Given the description of an element on the screen output the (x, y) to click on. 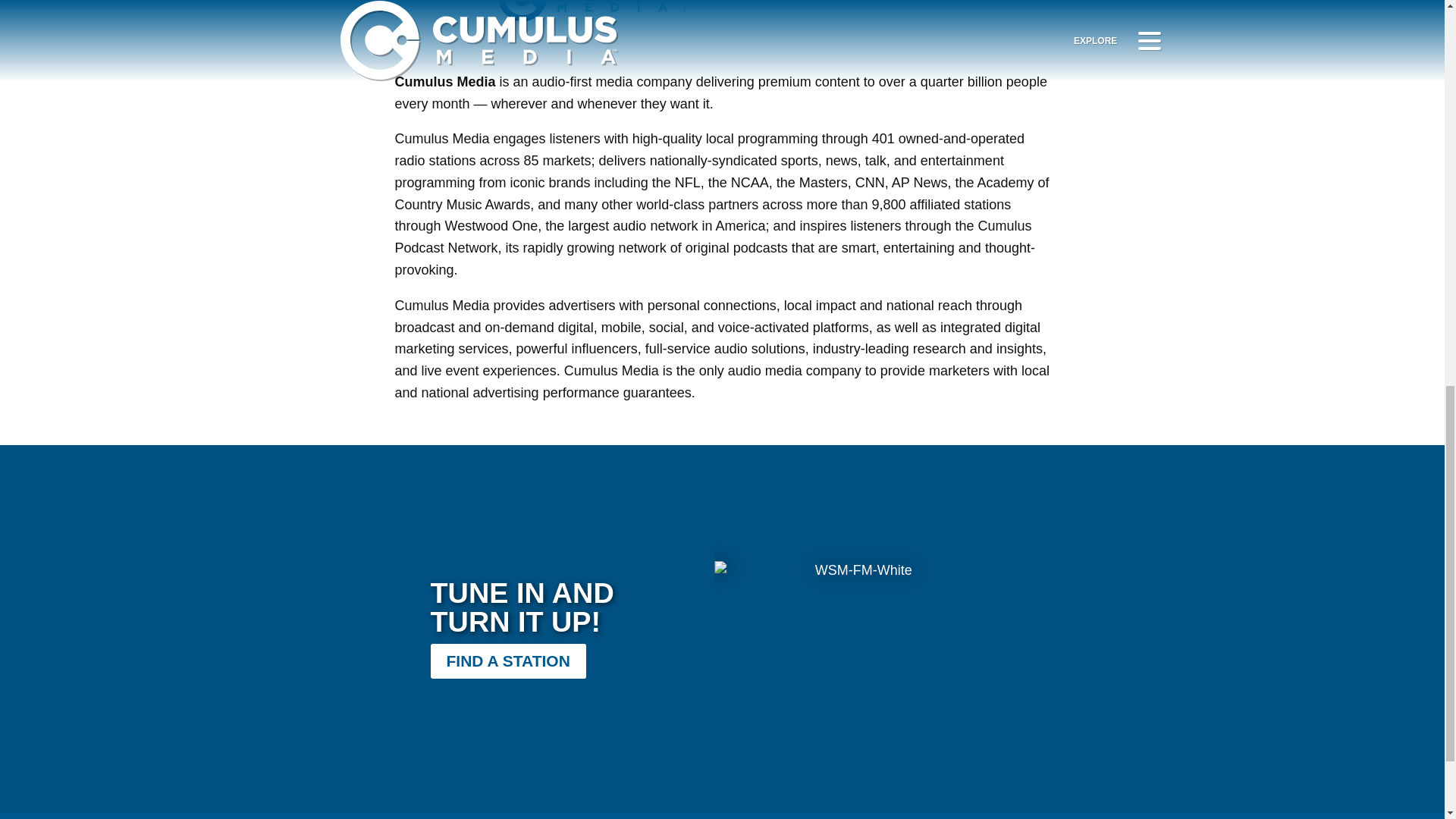
FIND A STATION (508, 660)
